Given the description of an element on the screen output the (x, y) to click on. 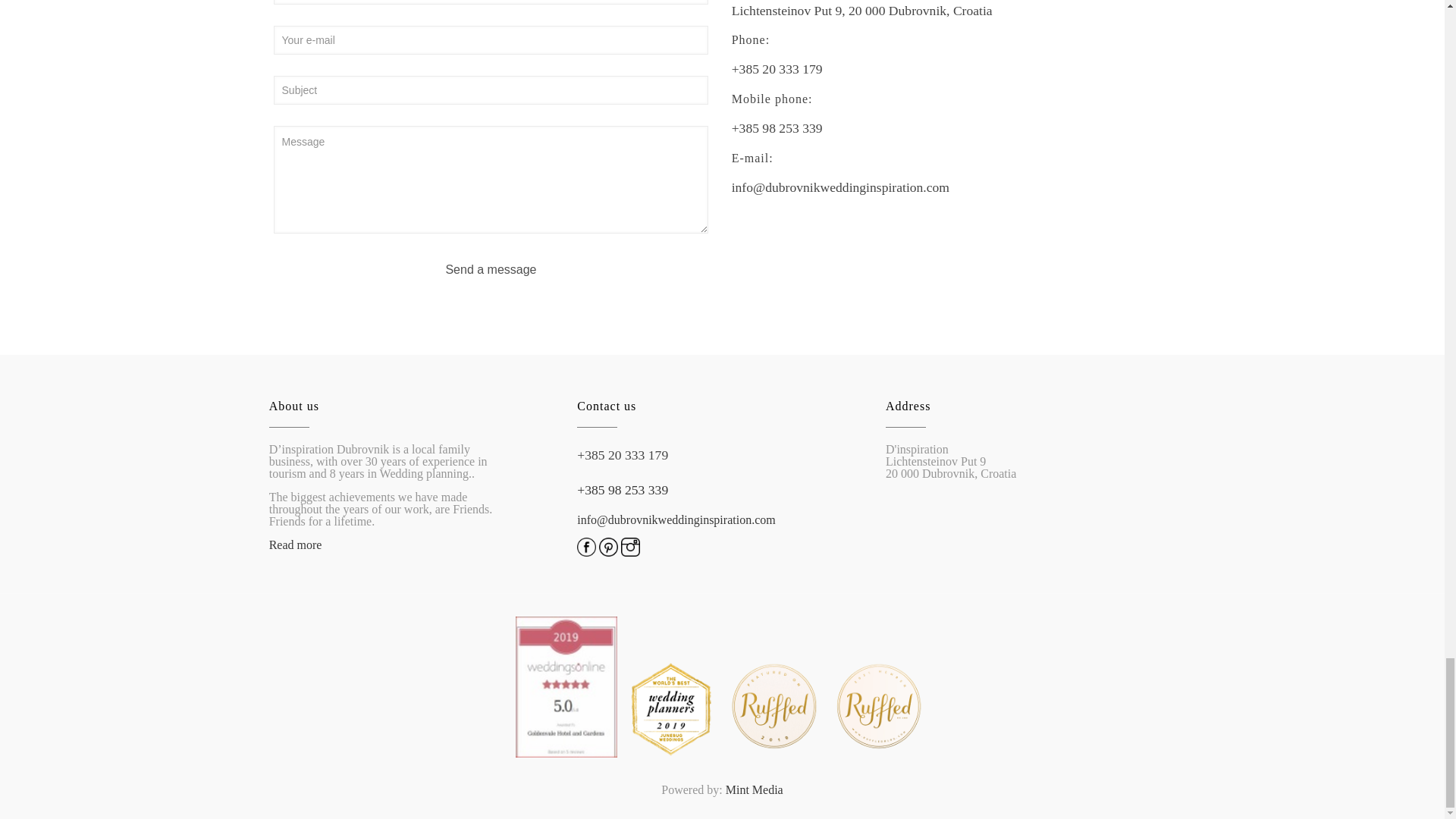
Send a message (491, 269)
Weddings Online (566, 753)
